Given the description of an element on the screen output the (x, y) to click on. 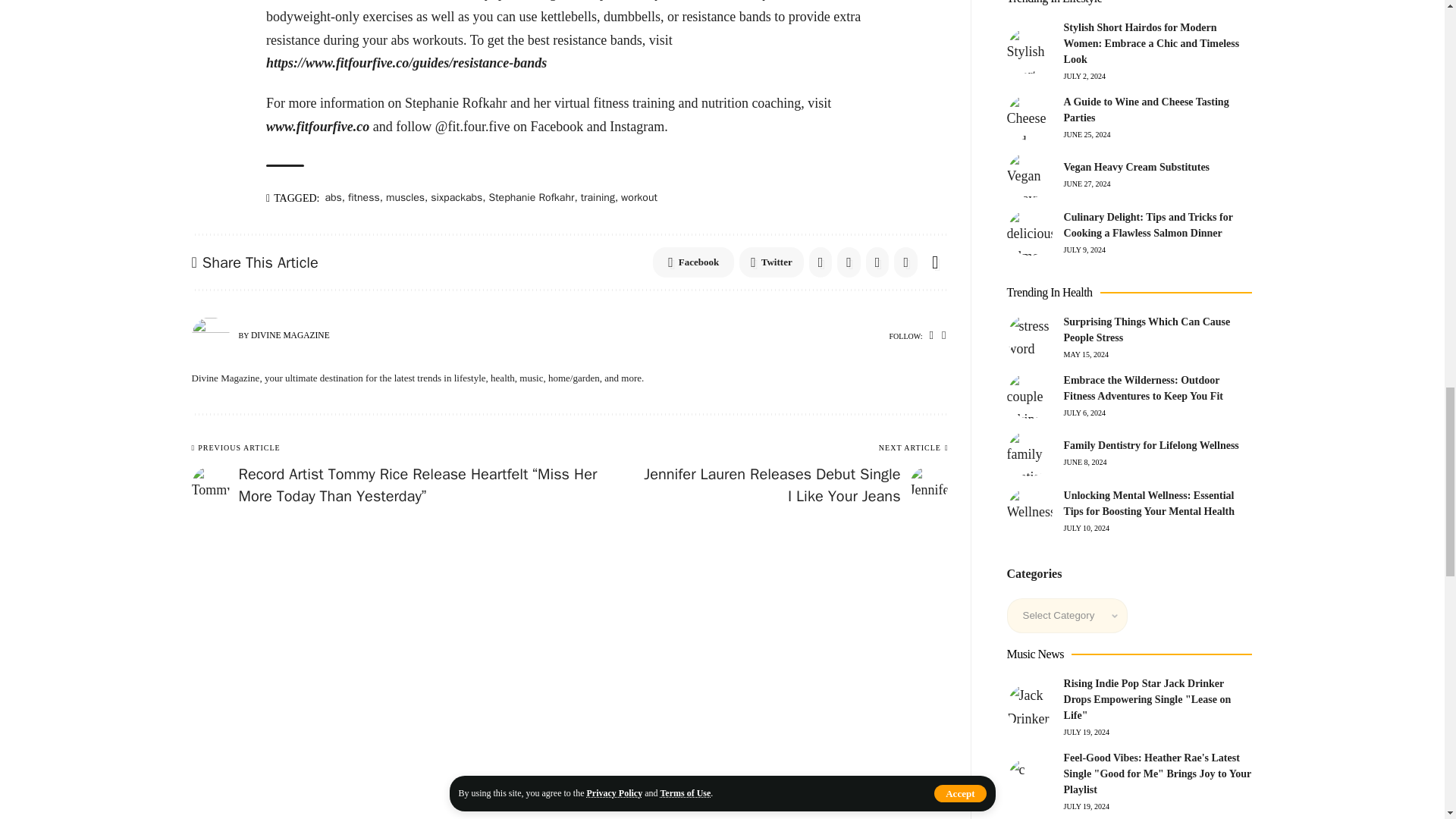
JenniferLauren ILikeYourJeans (928, 485)
Tommy Rice Cover (209, 485)
